Given the description of an element on the screen output the (x, y) to click on. 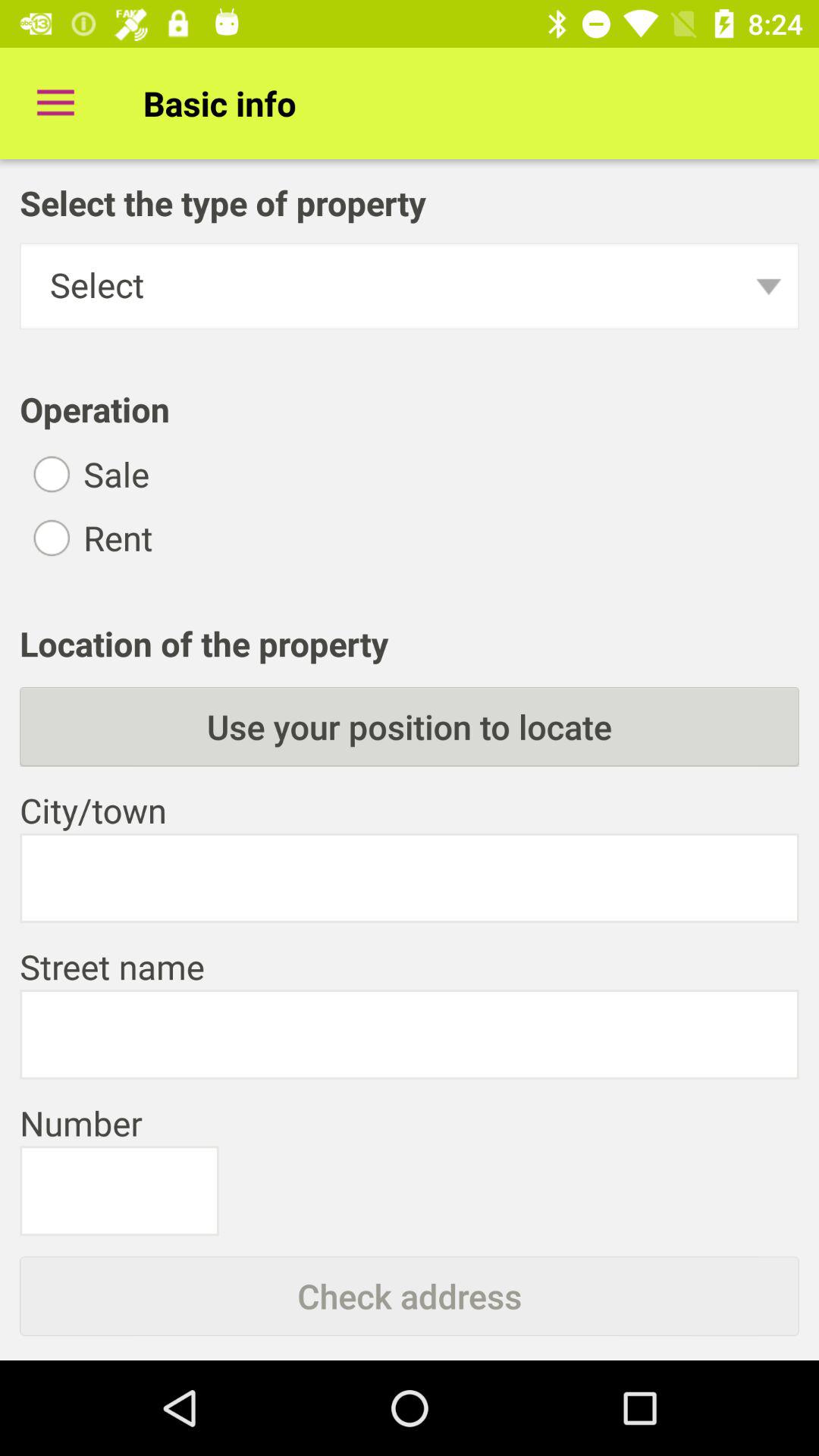
street name enter box (409, 1034)
